Given the description of an element on the screen output the (x, y) to click on. 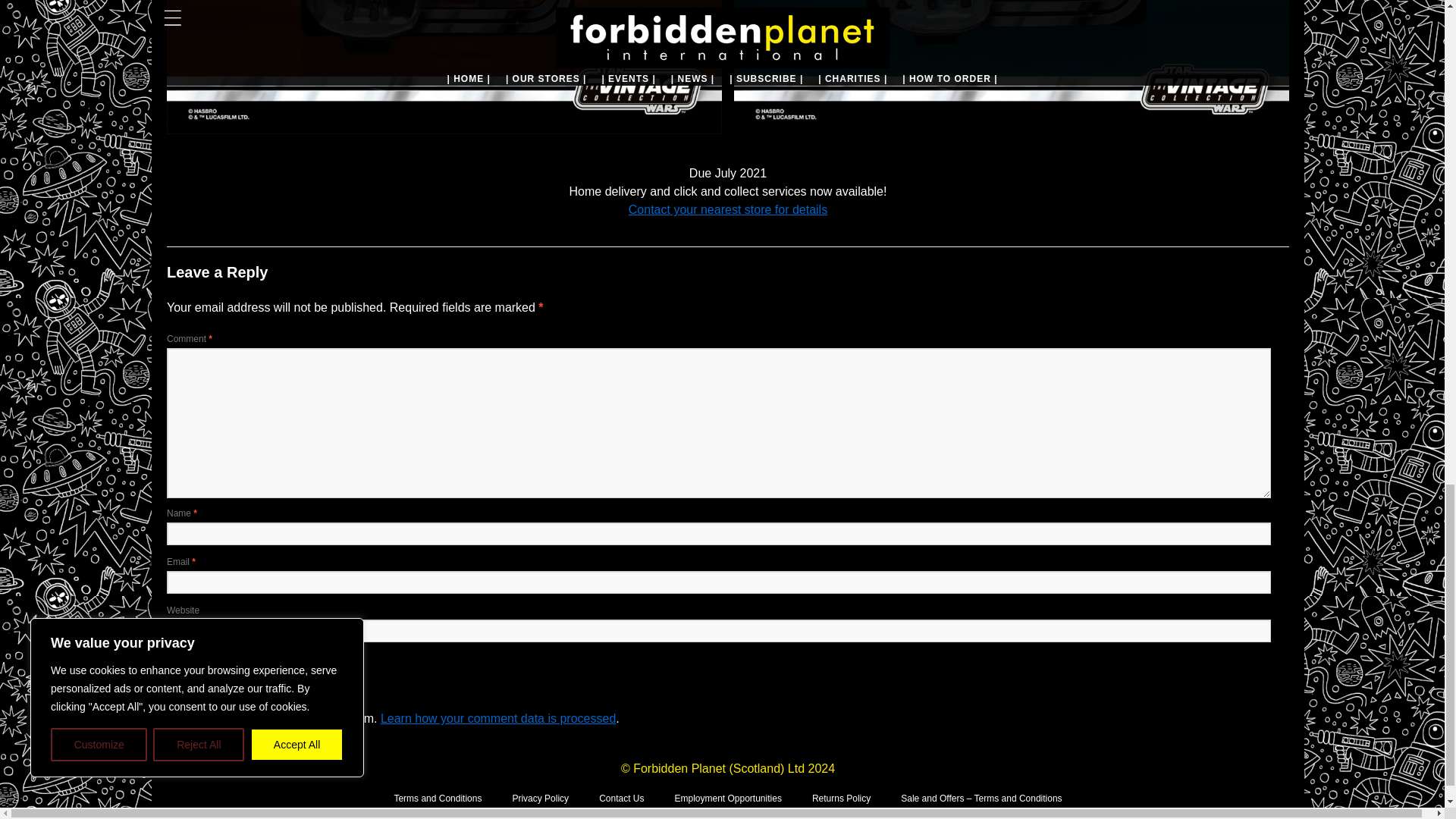
Contact your nearest store for details (727, 209)
Post Comment (207, 667)
Post Comment (207, 667)
Terms and Conditions (437, 798)
Privacy Policy (540, 798)
Learn how your comment data is processed (497, 717)
